Given the description of an element on the screen output the (x, y) to click on. 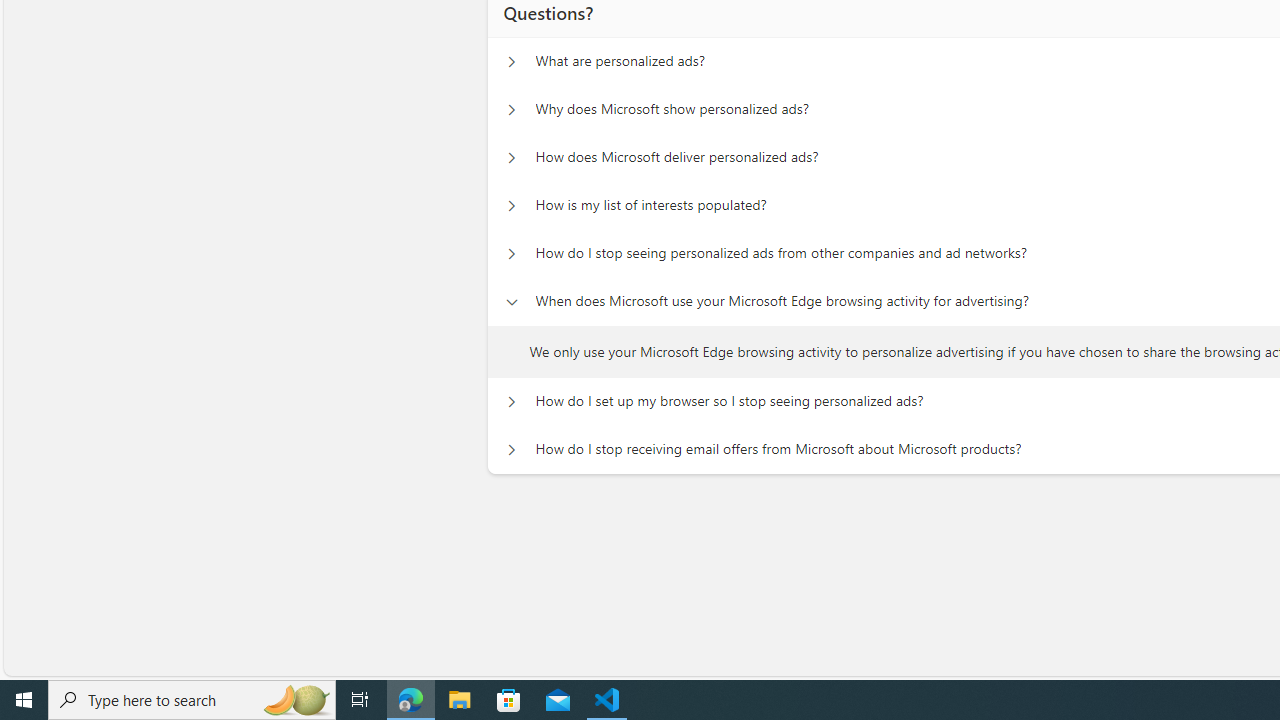
Questions? How is my list of interests populated? (511, 206)
Questions? How does Microsoft deliver personalized ads? (511, 157)
Questions? What are personalized ads? (511, 62)
Questions? Why does Microsoft show personalized ads? (511, 110)
